Given the description of an element on the screen output the (x, y) to click on. 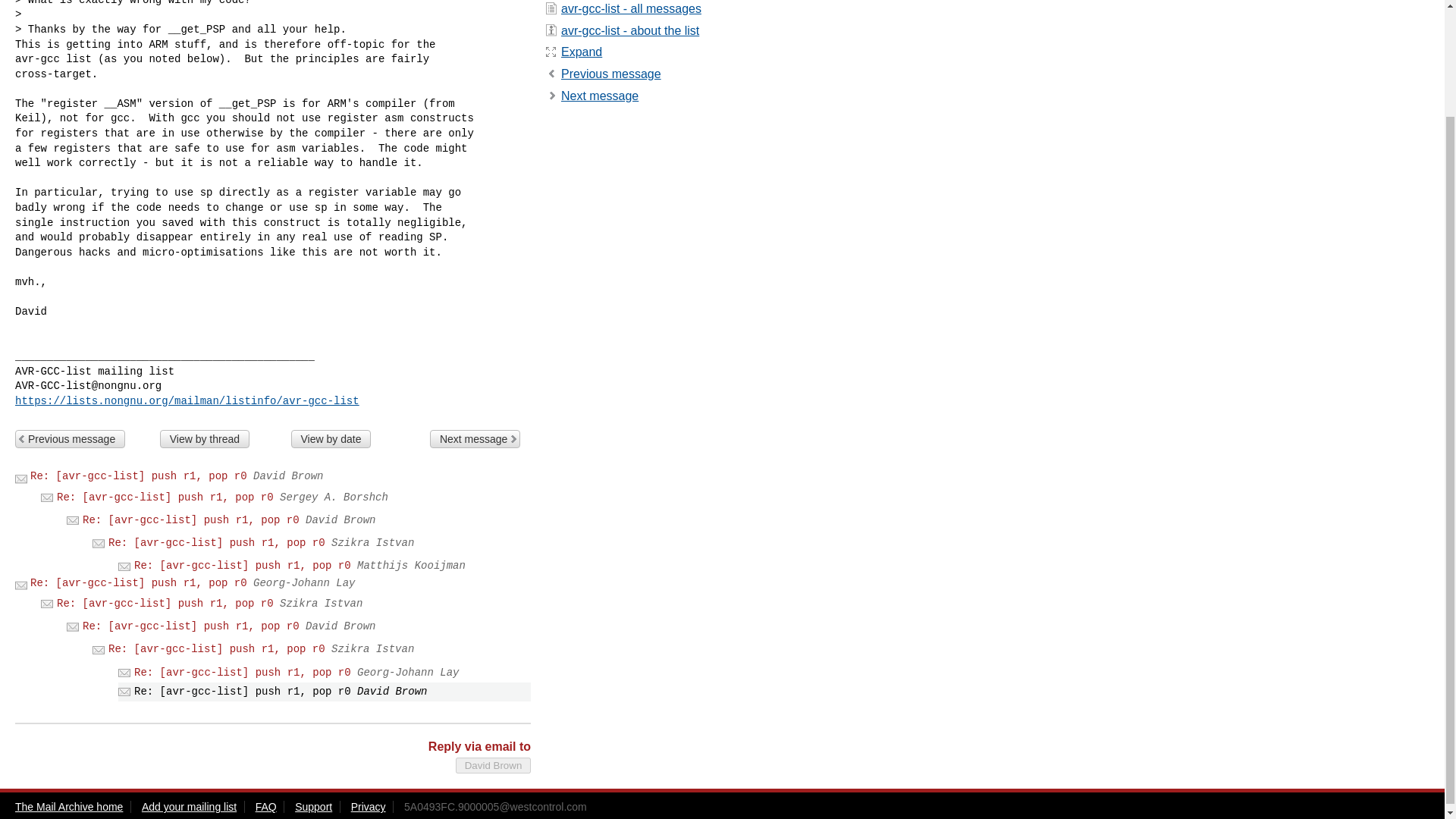
FAQ (266, 806)
Add your mailing list (188, 806)
avr-gcc-list - all messages (630, 8)
Expand (581, 51)
Previous message (610, 73)
n (599, 95)
The Mail Archive home (68, 806)
View by thread (204, 438)
Previous message (69, 438)
Privacy (367, 806)
 David Brown  (493, 765)
e (581, 51)
p (610, 73)
 David Brown  (493, 765)
avr-gcc-list - about the list (629, 30)
